Given the description of an element on the screen output the (x, y) to click on. 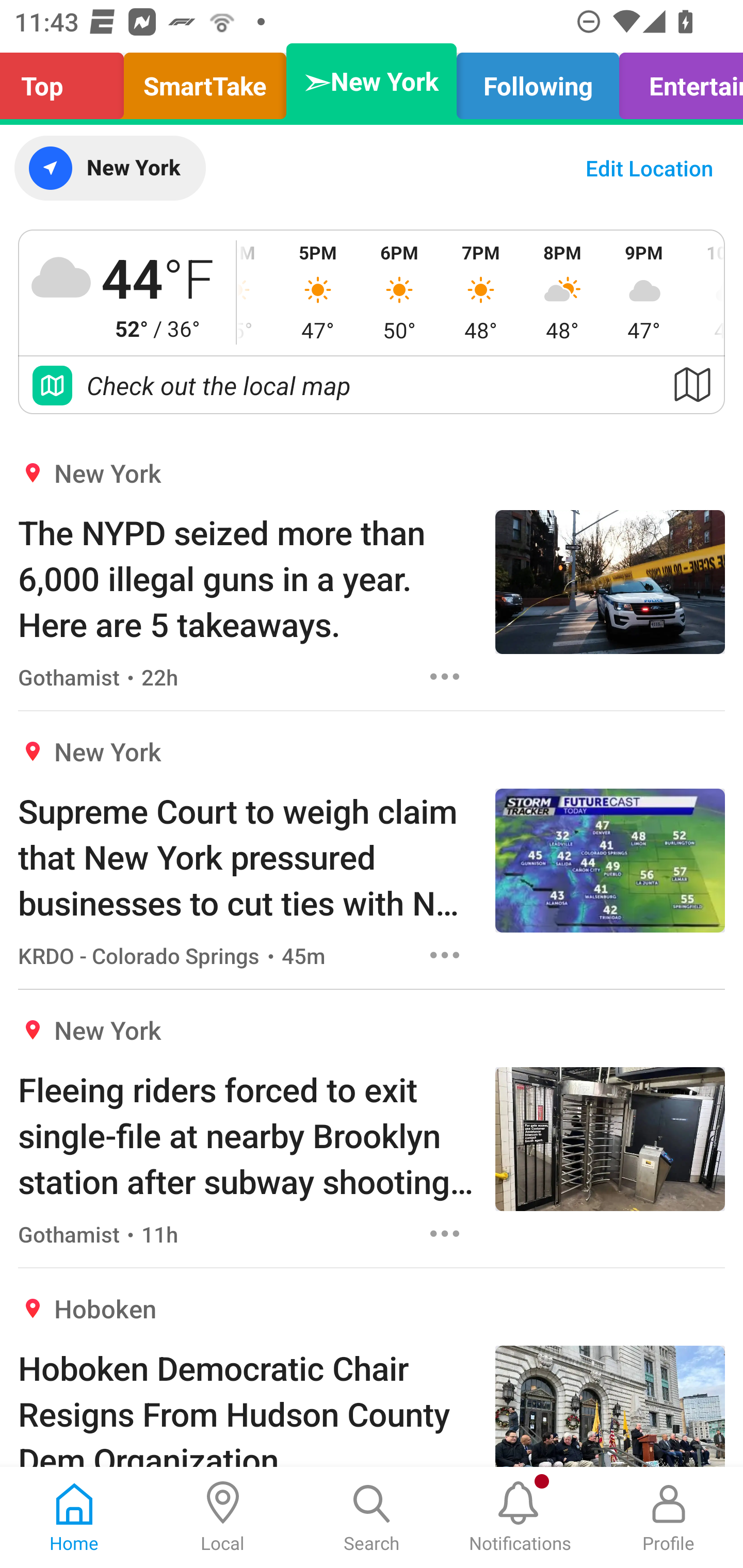
Top (67, 81)
SmartTake (204, 81)
➣New York (371, 81)
Following (537, 81)
New York (109, 168)
Edit Location (648, 168)
5PM 47° (317, 291)
6PM 50° (398, 291)
7PM 48° (480, 291)
8PM 48° (562, 291)
9PM 47° (644, 291)
Check out the local map (371, 384)
Options (444, 676)
Options (444, 954)
Options (444, 1233)
Local (222, 1517)
Search (371, 1517)
Notifications, New notification Notifications (519, 1517)
Profile (668, 1517)
